Given the description of an element on the screen output the (x, y) to click on. 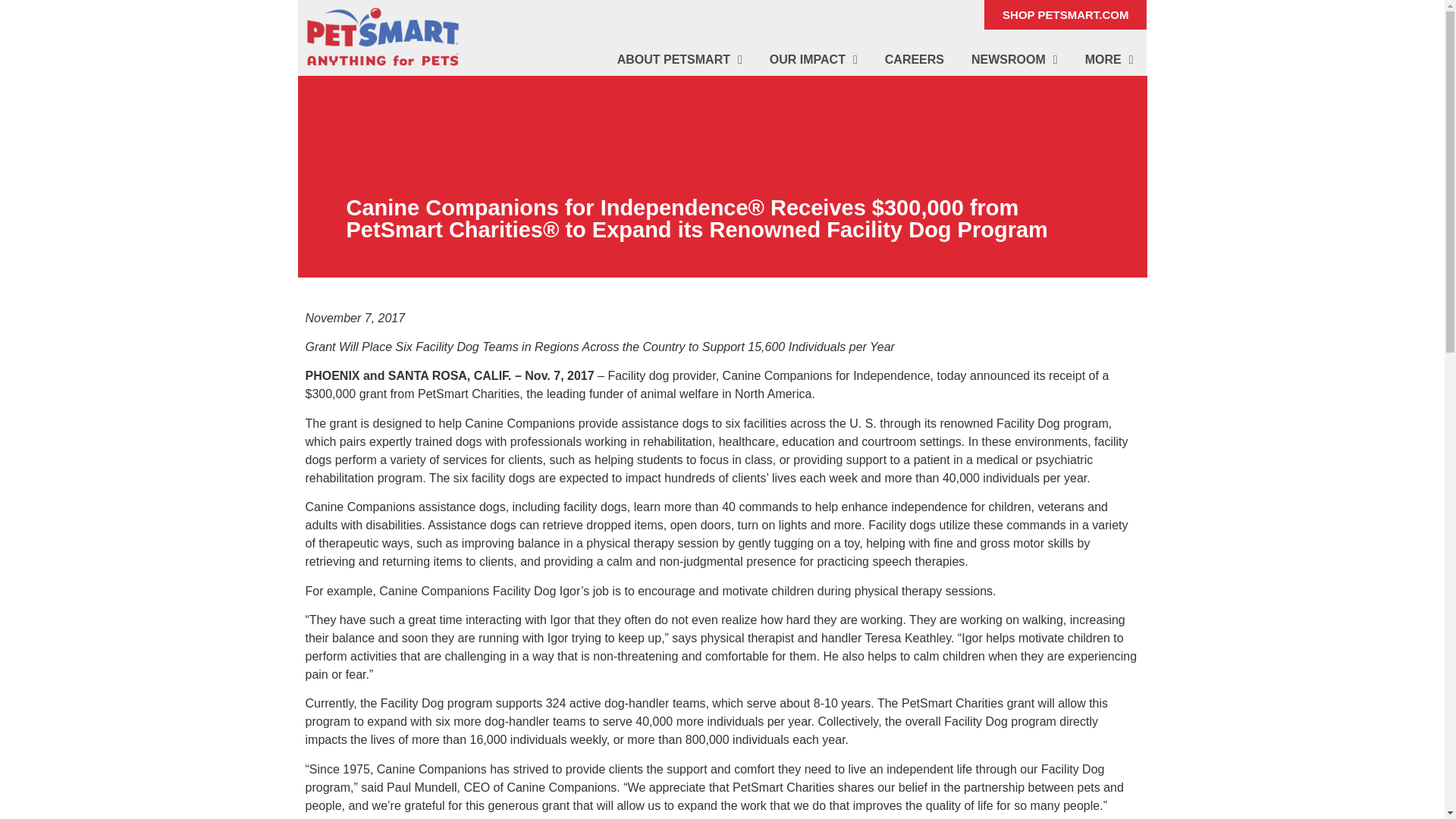
OUR IMPACT (812, 59)
SHOP PETSMART.COM (1065, 14)
CAREERS (914, 59)
NEWSROOM (1014, 59)
MORE (1109, 59)
ABOUT PETSMART (679, 59)
